Given the description of an element on the screen output the (x, y) to click on. 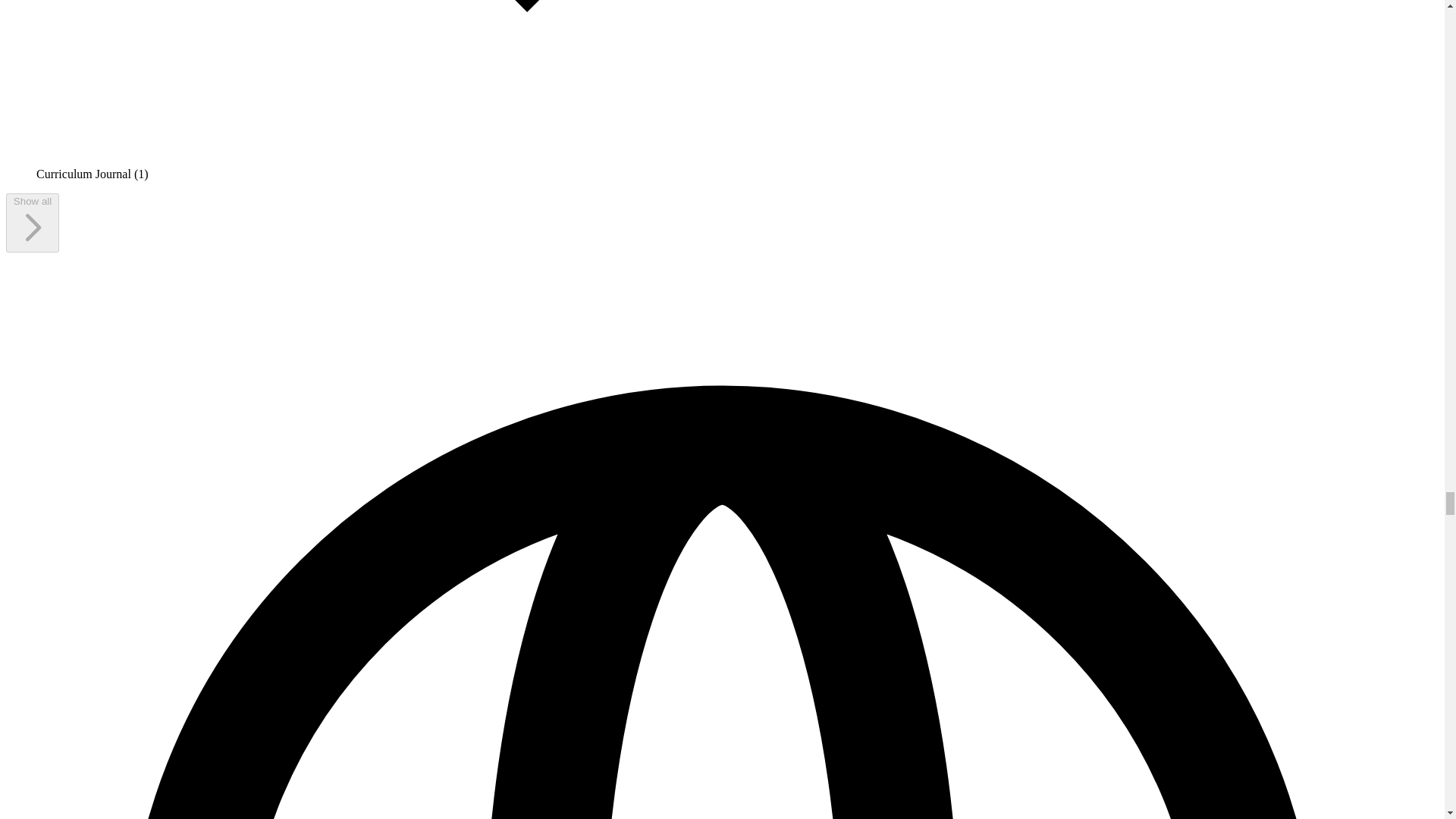
Show all (32, 222)
